Given the description of an element on the screen output the (x, y) to click on. 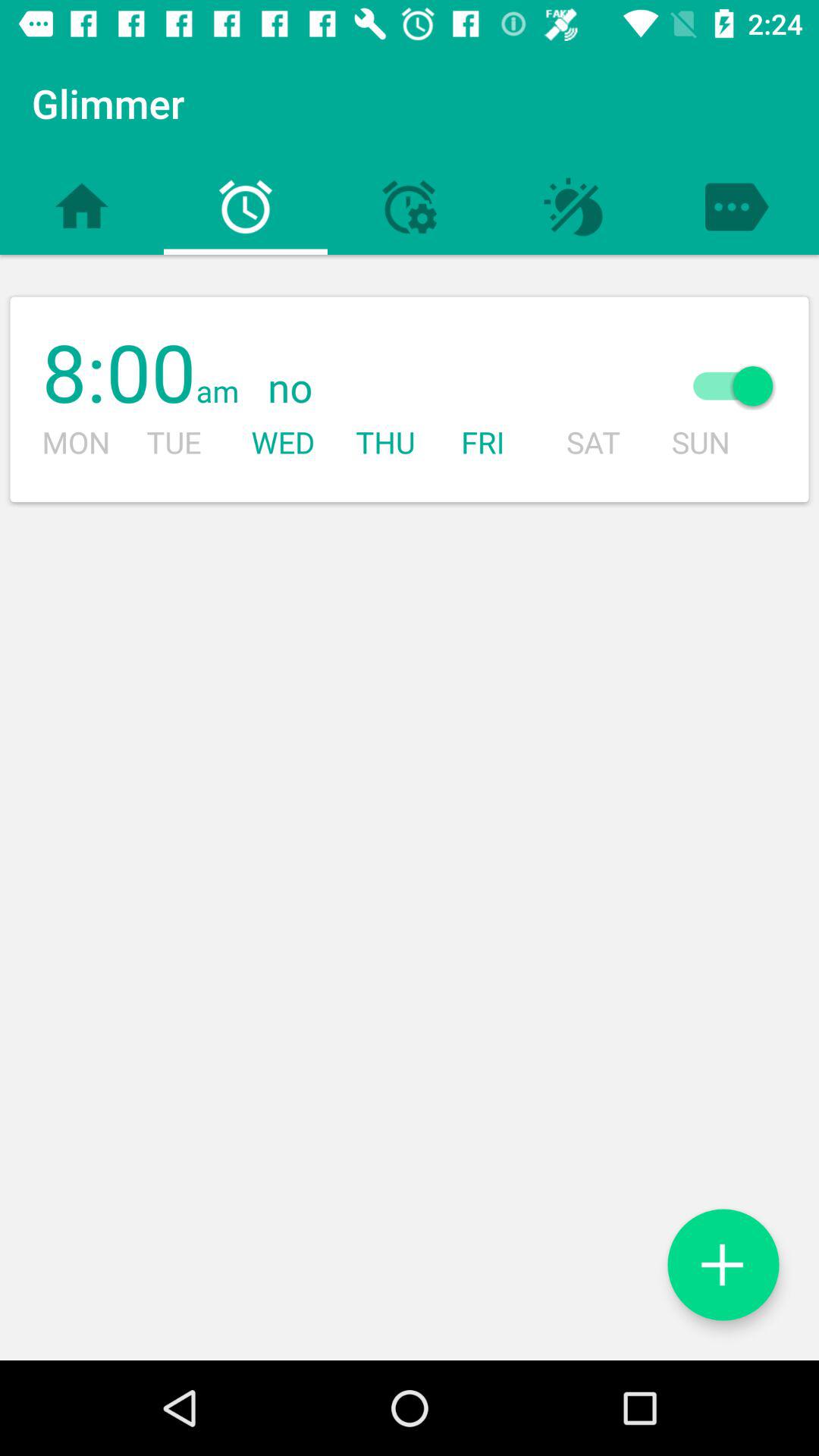
add another alarm (723, 1264)
